Given the description of an element on the screen output the (x, y) to click on. 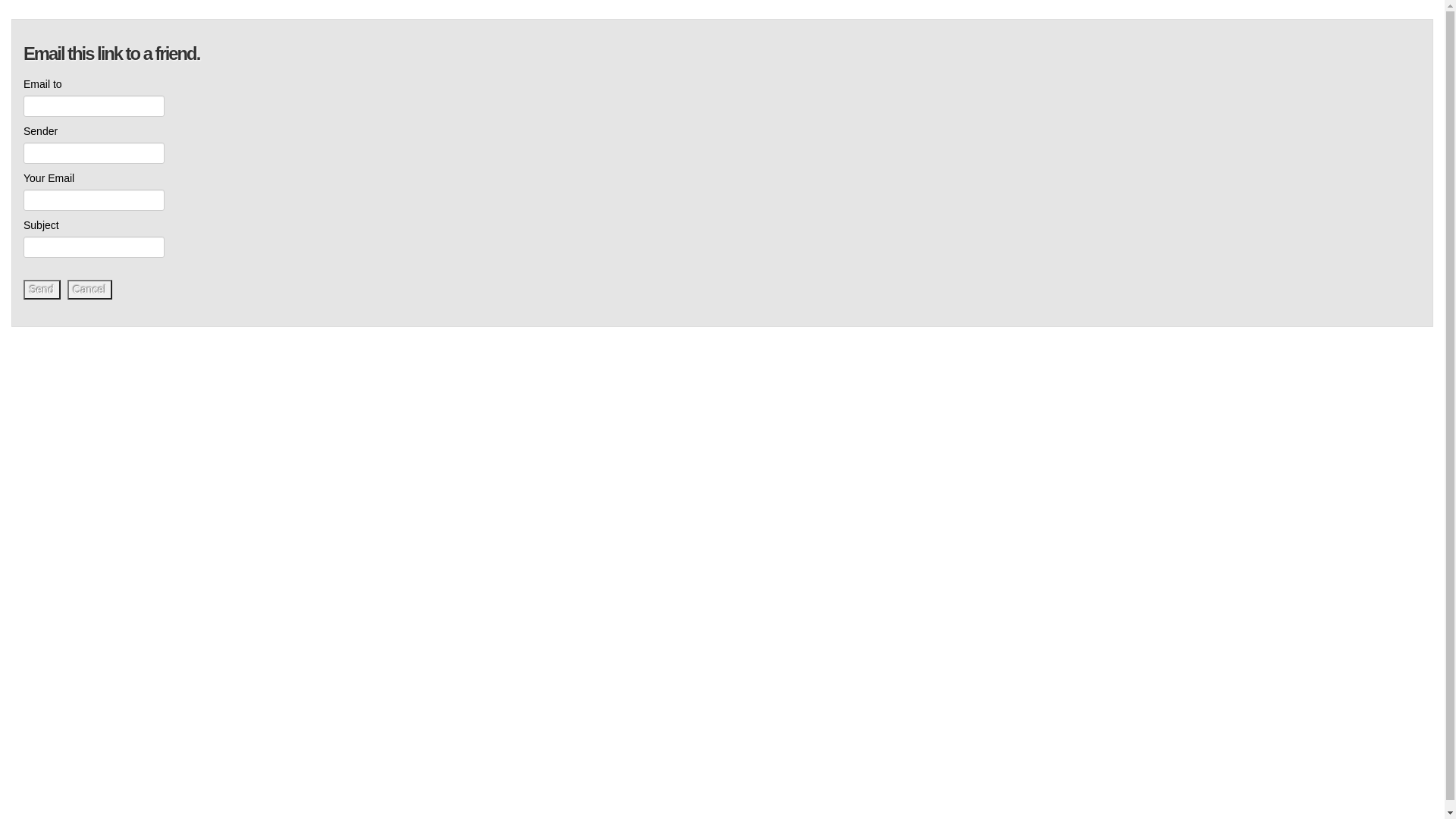
Close Window Element type: hover (1422, 32)
Send Element type: text (41, 289)
Cancel Element type: text (89, 289)
